Given the description of an element on the screen output the (x, y) to click on. 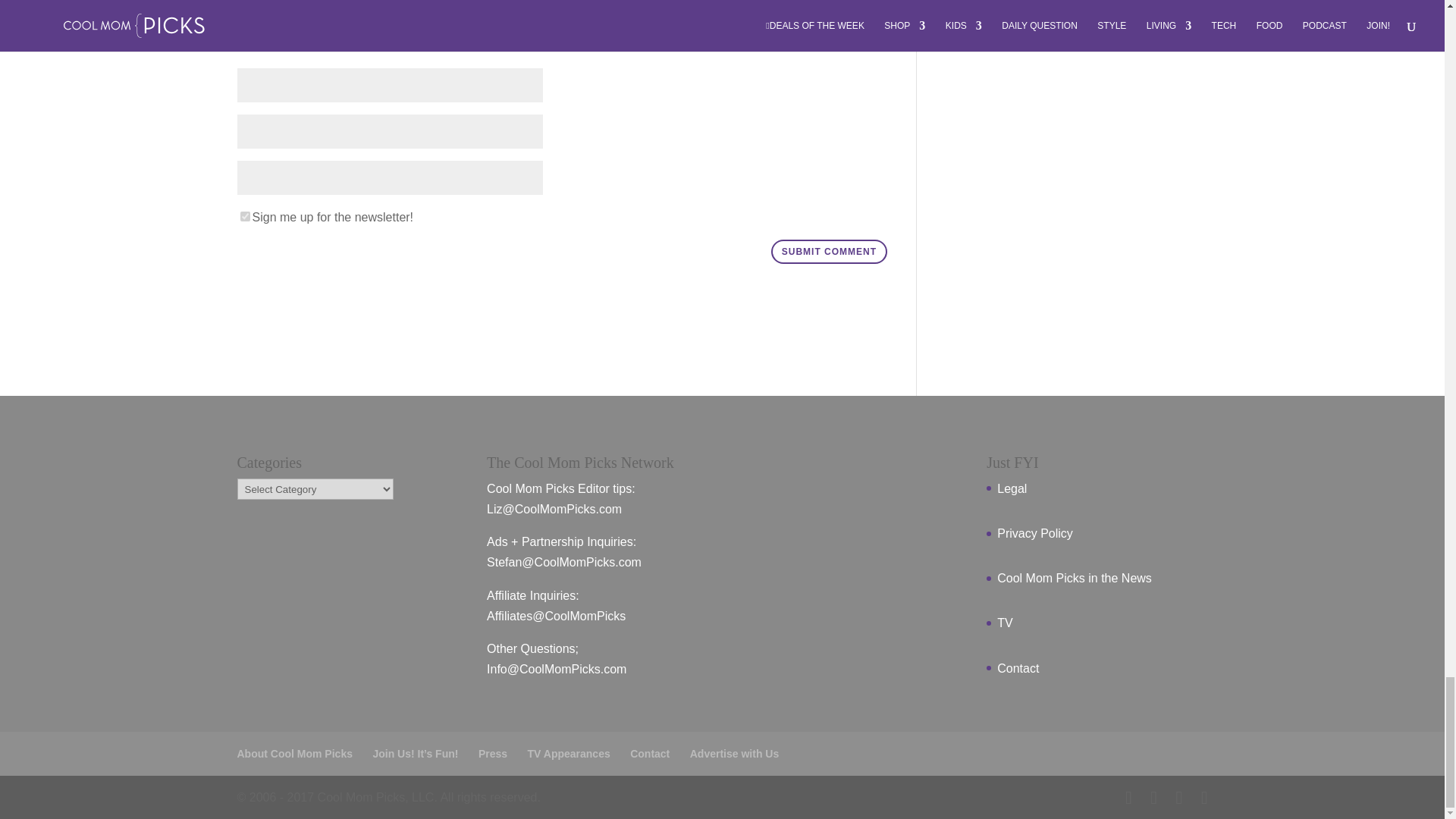
1 (244, 216)
Submit Comment (828, 251)
